Given the description of an element on the screen output the (x, y) to click on. 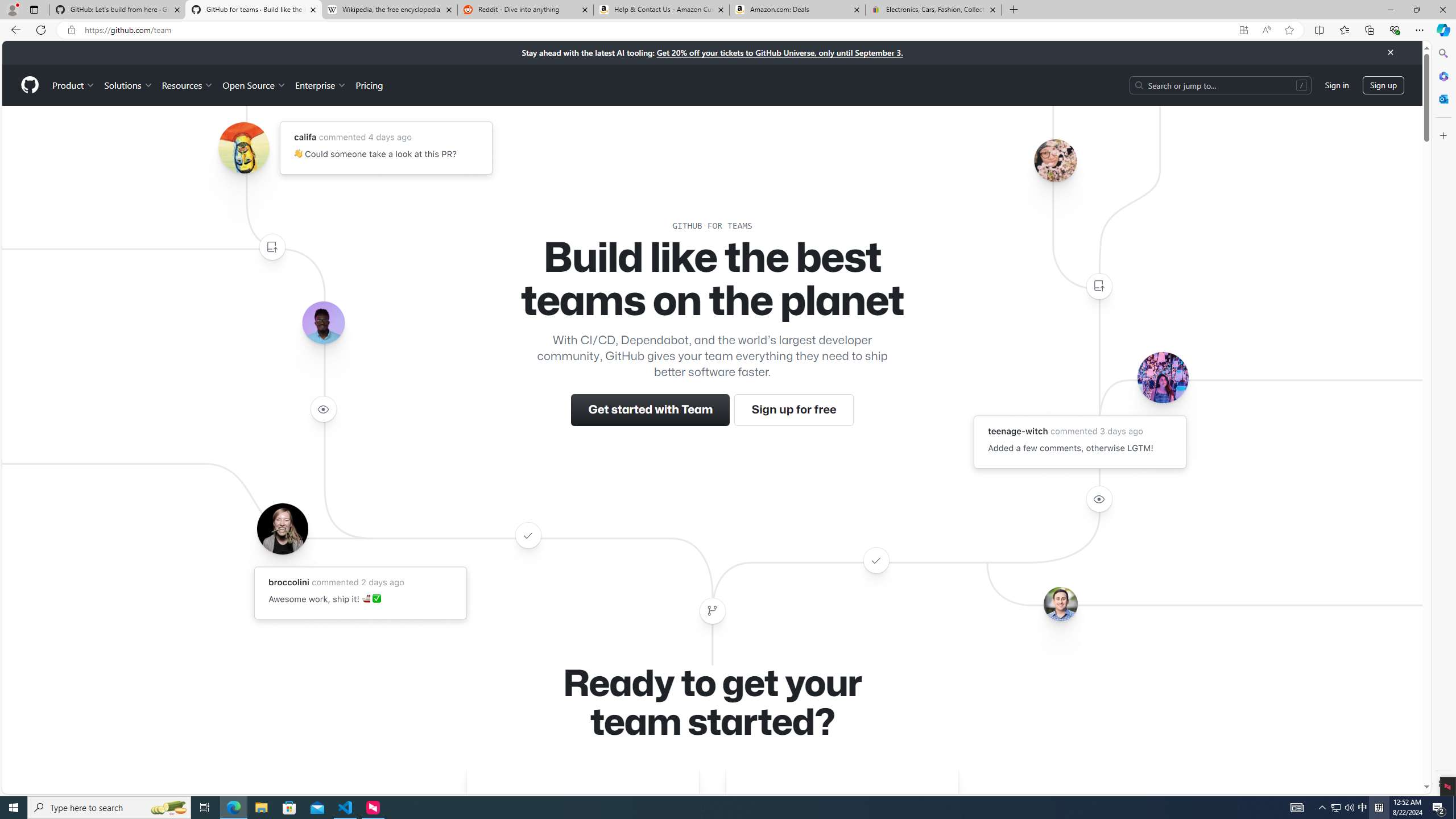
Amazon.com: Deals (797, 9)
Solutions (128, 84)
Get started with Team (650, 409)
Product (74, 84)
